Given the description of an element on the screen output the (x, y) to click on. 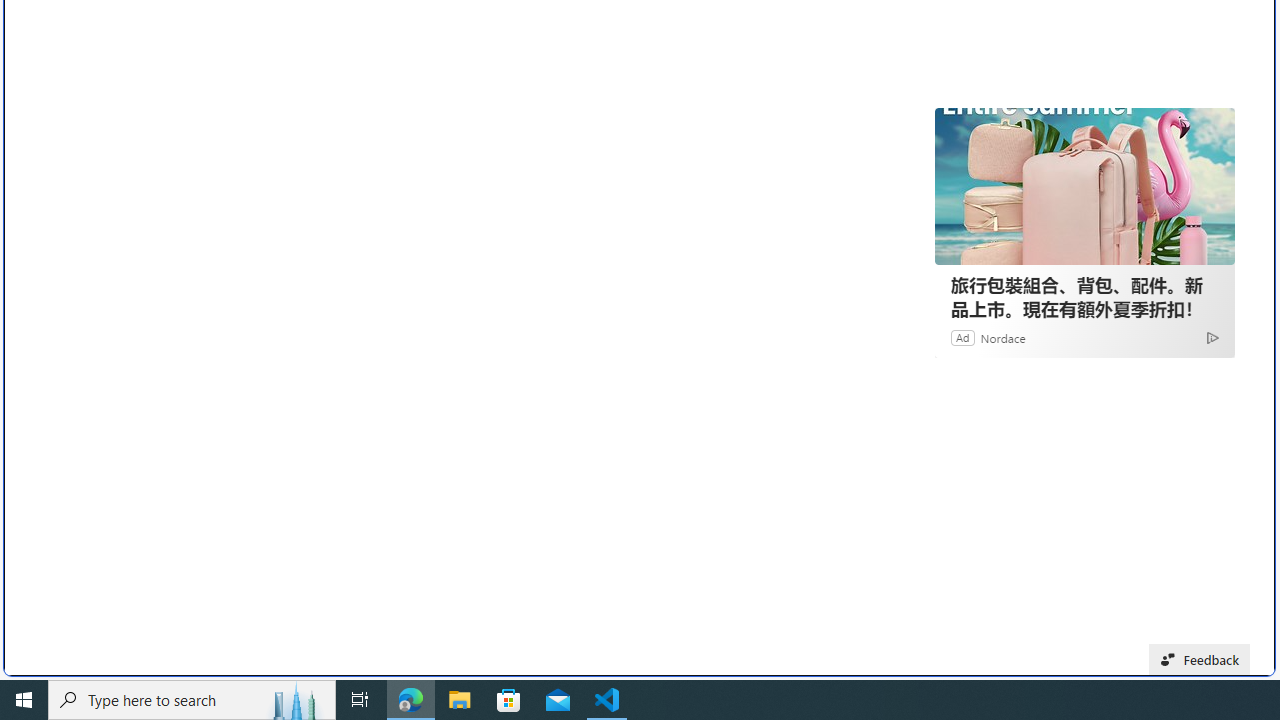
Feedback (1199, 659)
